Given the description of an element on the screen output the (x, y) to click on. 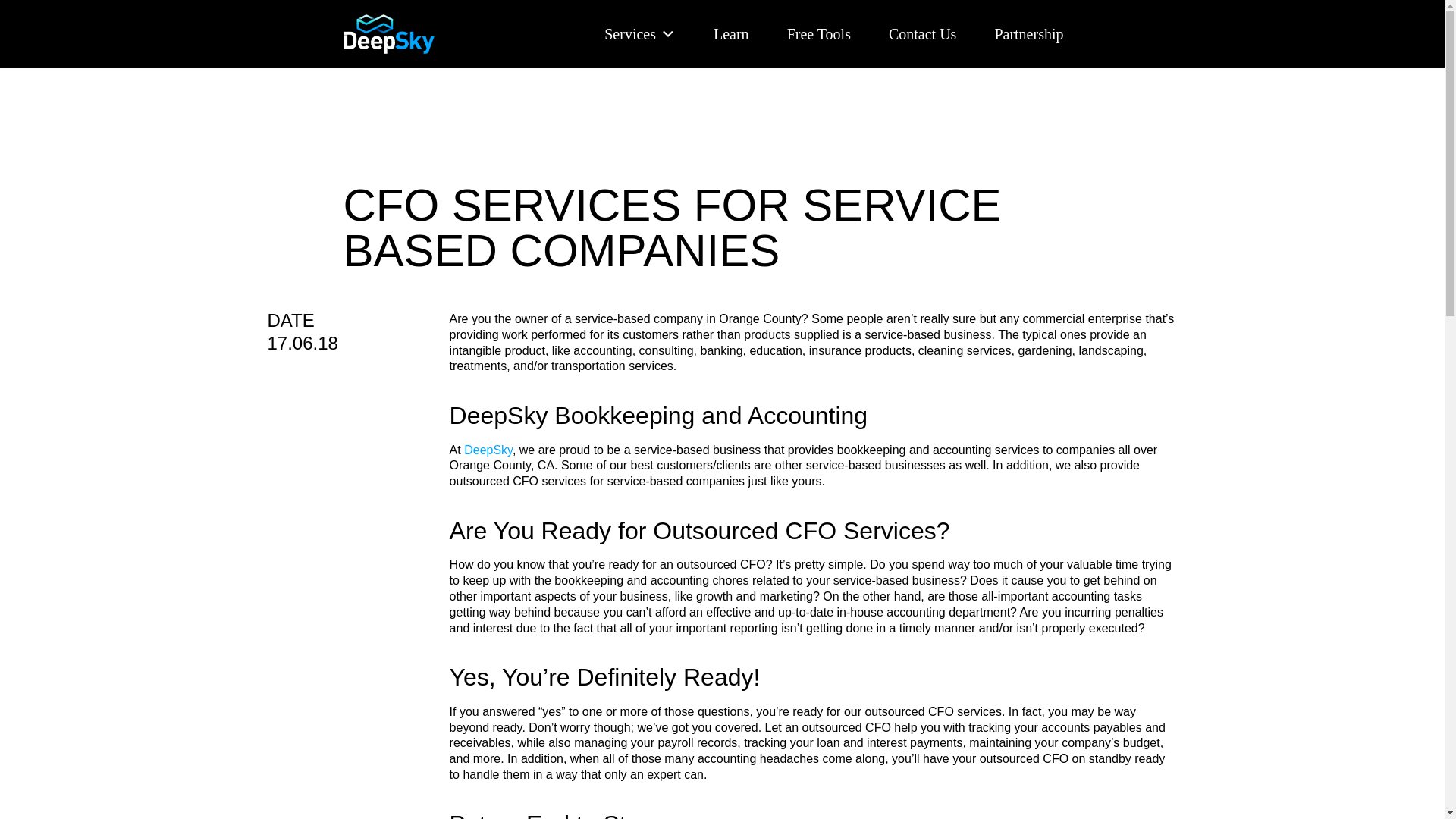
Contact Us (922, 21)
Partnership (1028, 22)
Services (639, 1)
Learn (731, 18)
Free Tools (818, 20)
